Given the description of an element on the screen output the (x, y) to click on. 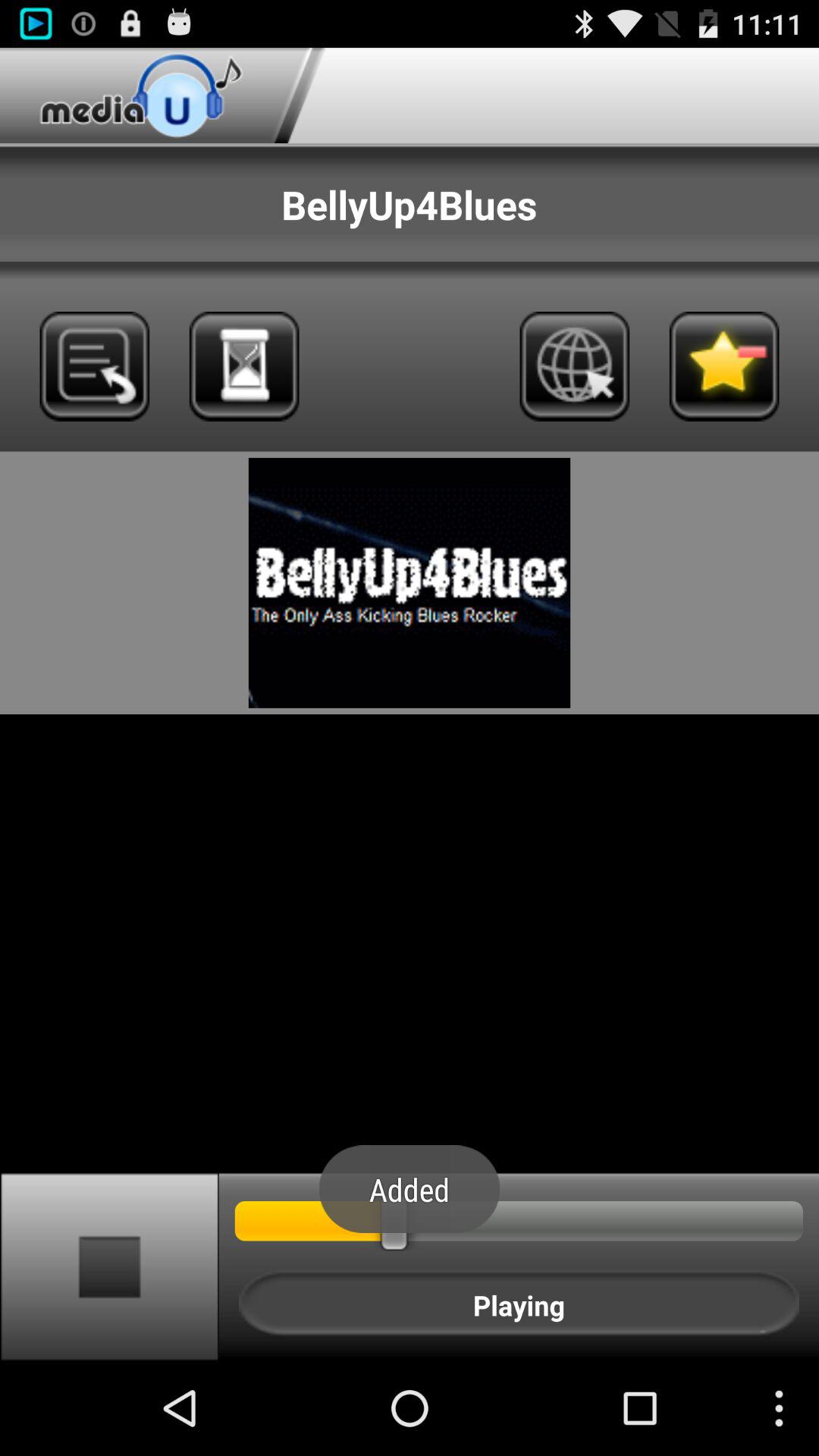
timer (244, 366)
